Given the description of an element on the screen output the (x, y) to click on. 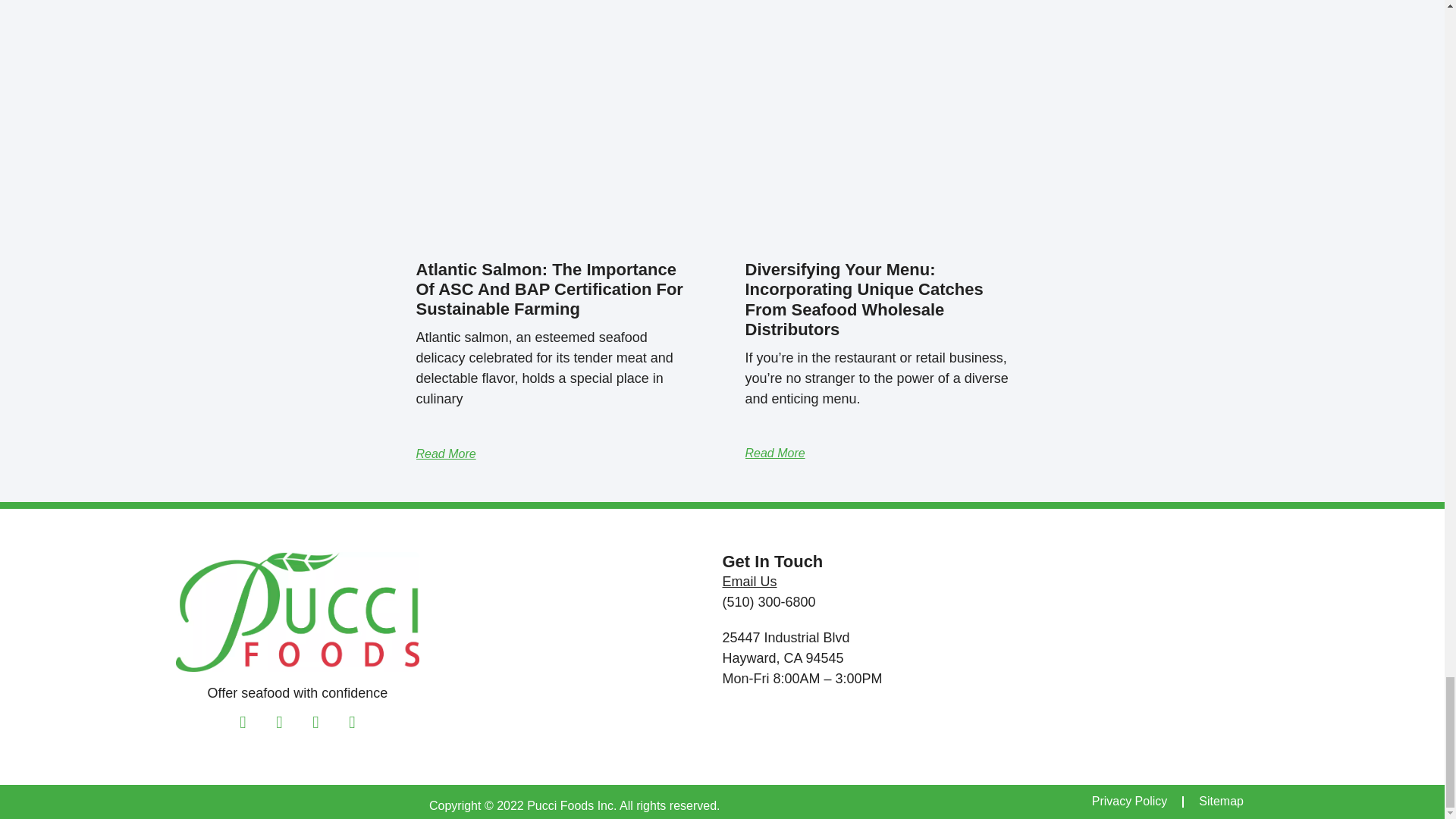
Read More (445, 453)
